Given the description of an element on the screen output the (x, y) to click on. 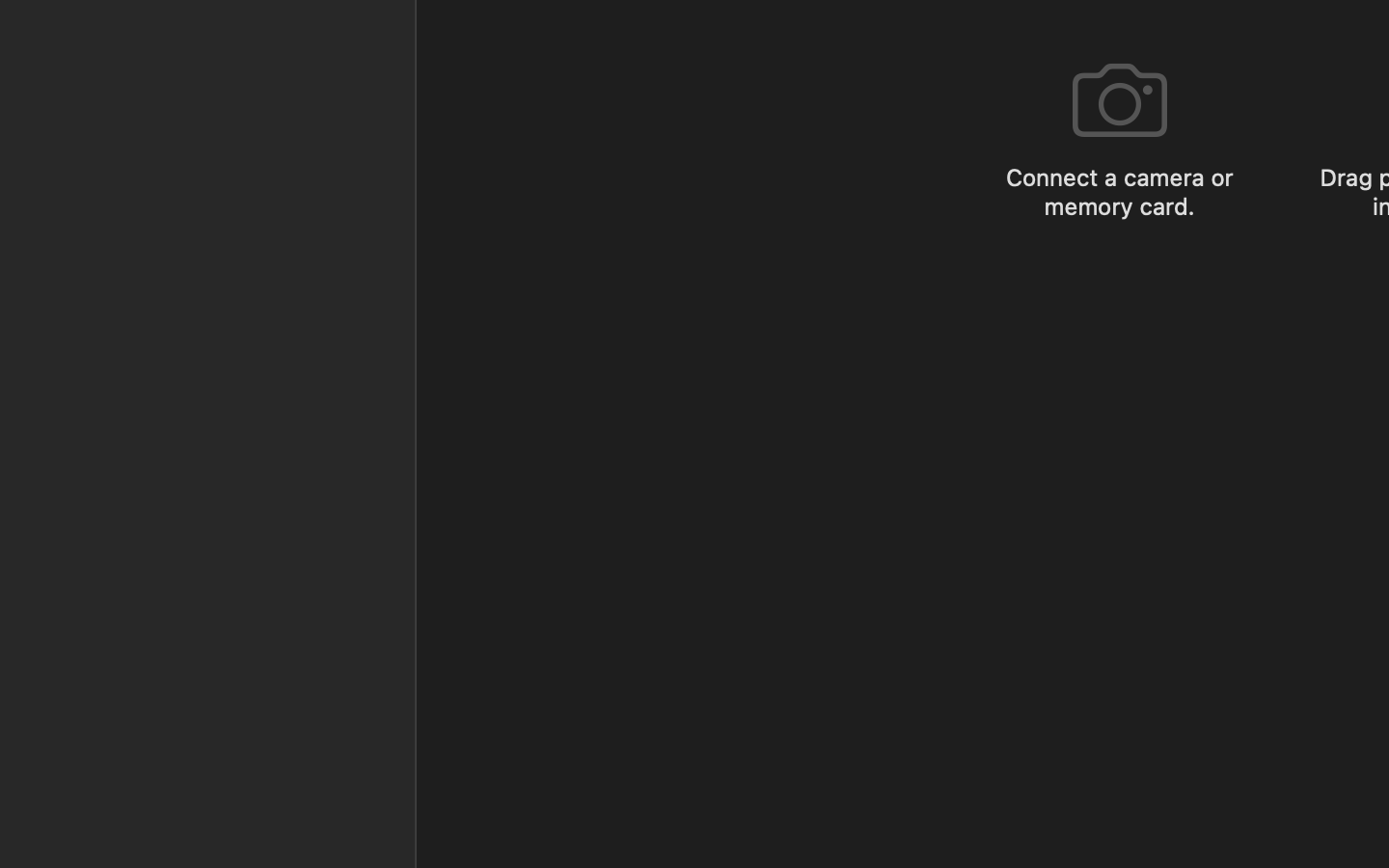
Connect a camera or memory card. Element type: AXStaticText (1118, 190)
